Given the description of an element on the screen output the (x, y) to click on. 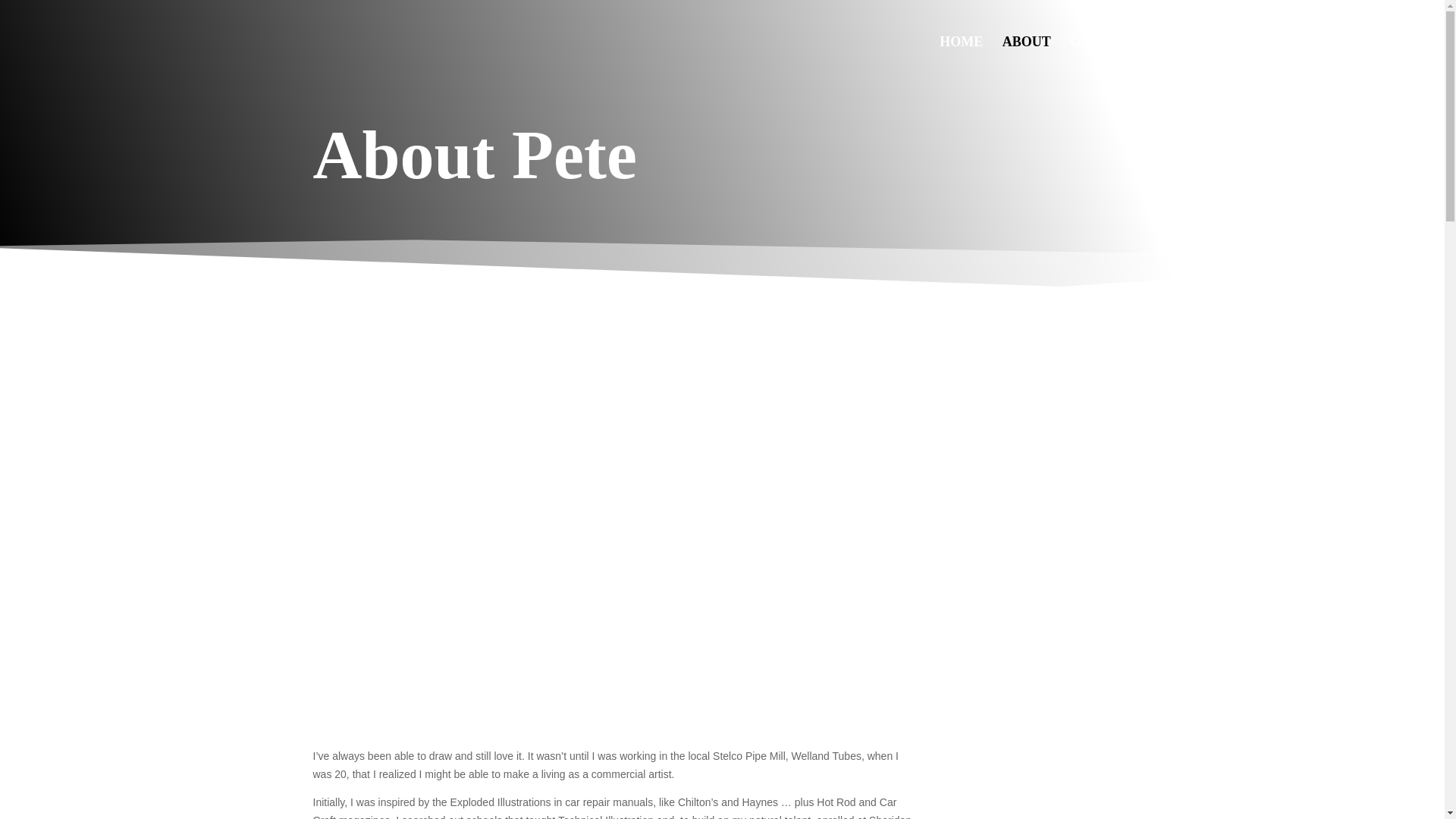
HOME (960, 59)
CONTACT (1356, 59)
Website-2015-Acrylic-Fall-Walkers-Creek-w-bench (1045, 783)
ABOUT (1027, 59)
GALLERIES (1117, 59)
